Given the description of an element on the screen output the (x, y) to click on. 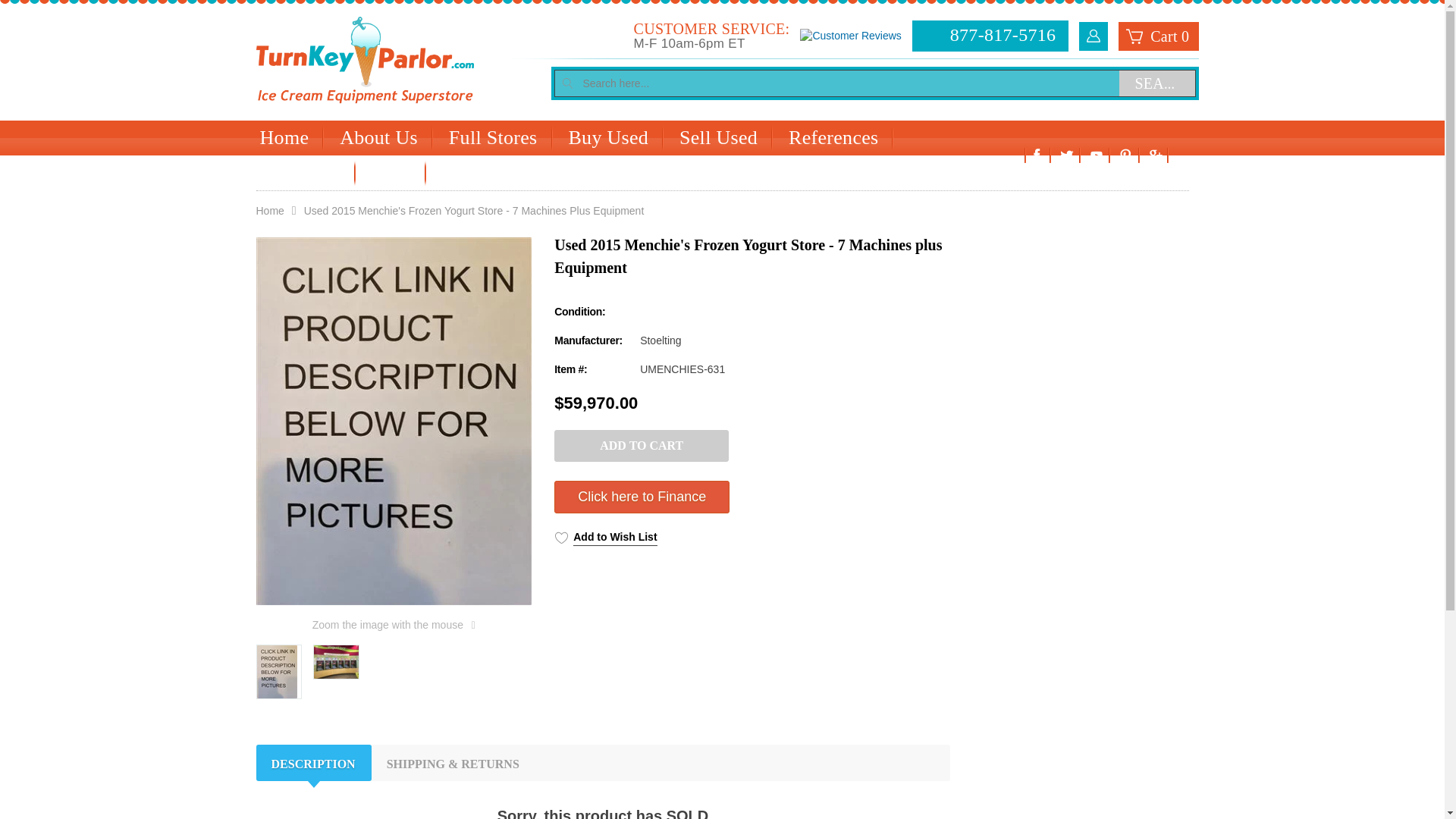
About Us (378, 137)
Pinterest (1125, 155)
Buy Used (608, 137)
Full Stores (493, 137)
References (833, 137)
Twitter (1066, 155)
Sell Used (718, 137)
LOGIN (1093, 35)
Financing (299, 172)
877-817-5716 (990, 35)
Cart 0 (1158, 35)
Facebook (1036, 155)
SEARCH (1157, 83)
Blog (391, 172)
Home (283, 137)
